Given the description of an element on the screen output the (x, y) to click on. 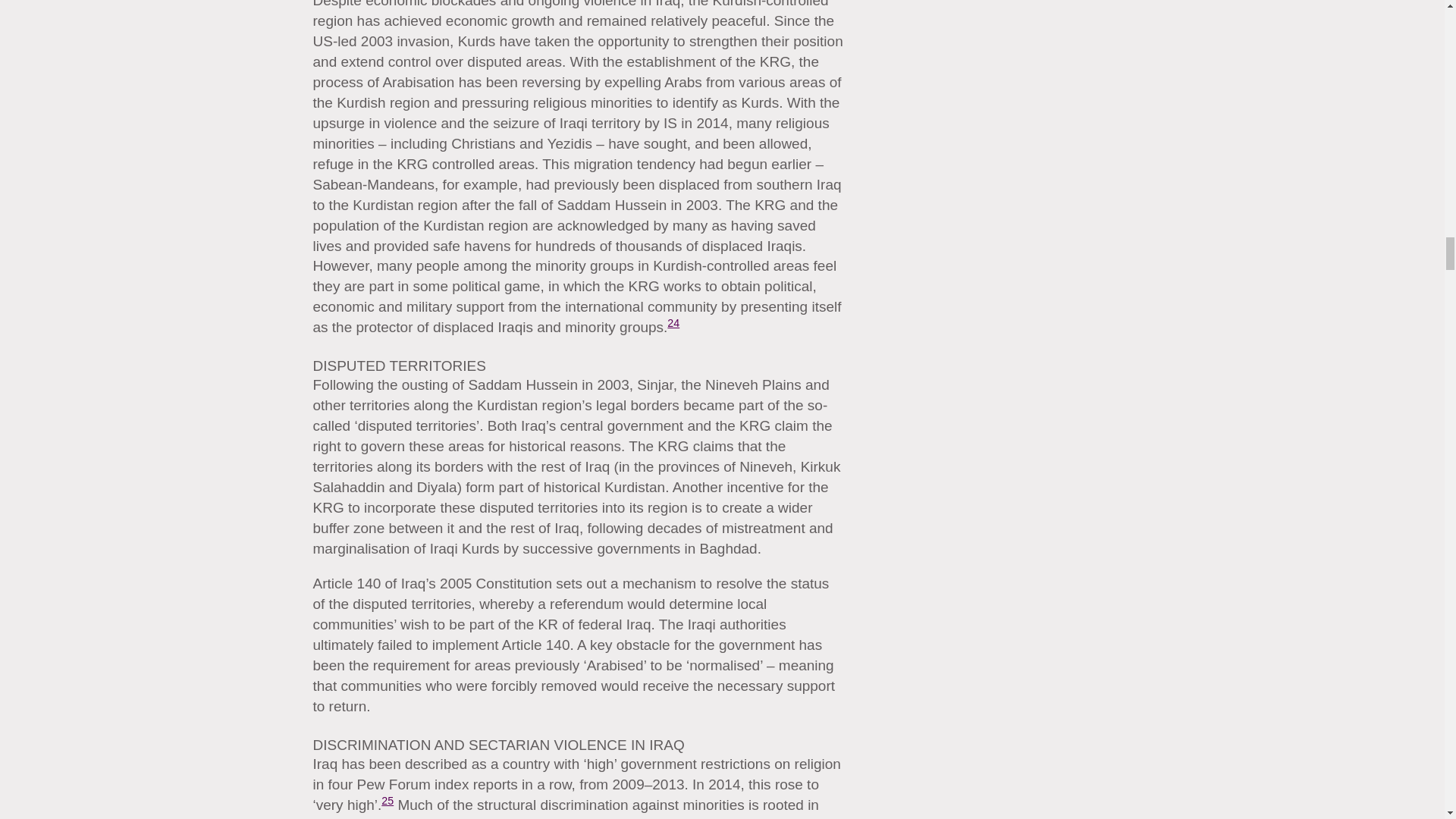
25 (387, 800)
24 (672, 322)
